Given the description of an element on the screen output the (x, y) to click on. 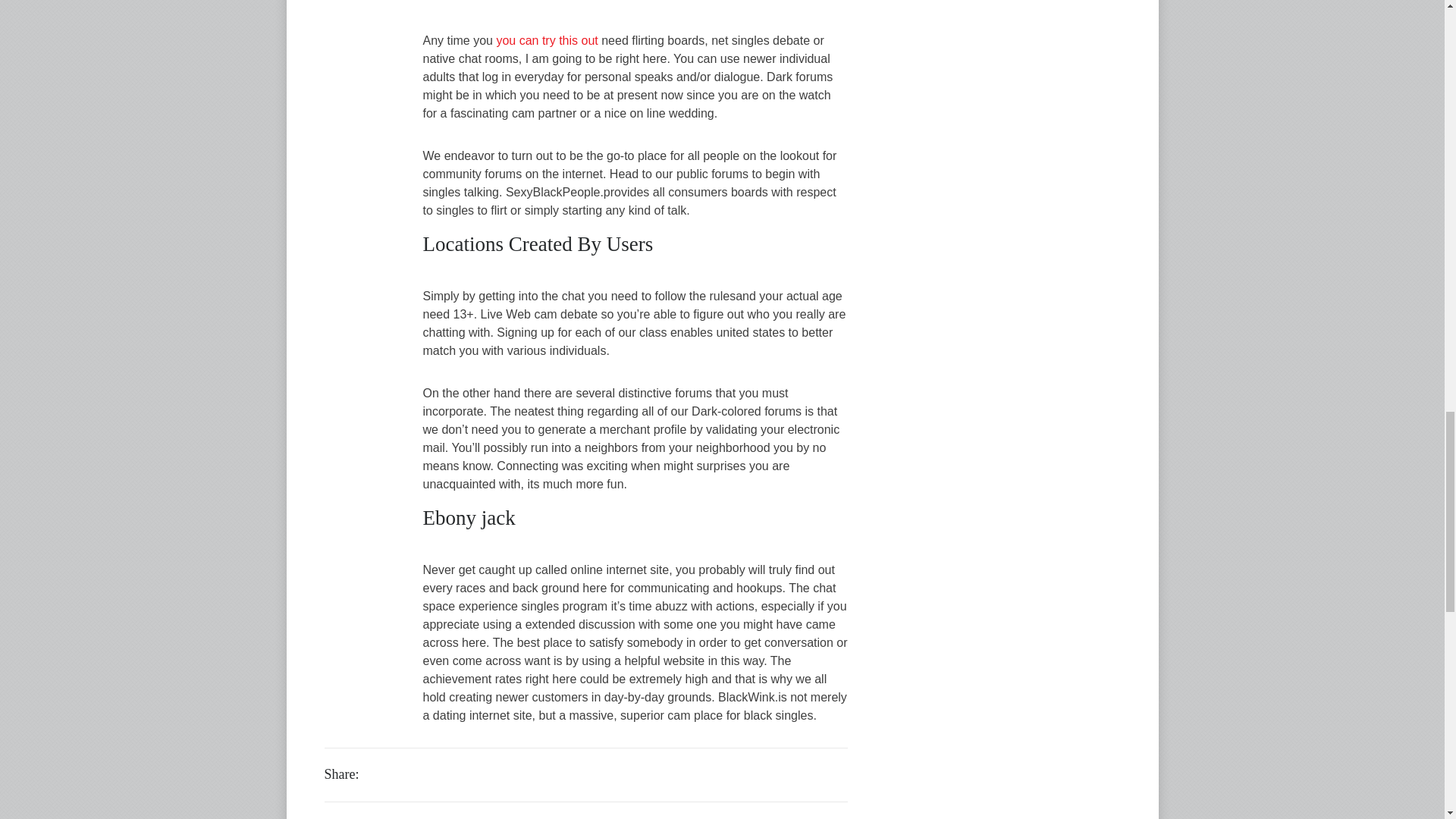
you can try this out (546, 40)
